Given the description of an element on the screen output the (x, y) to click on. 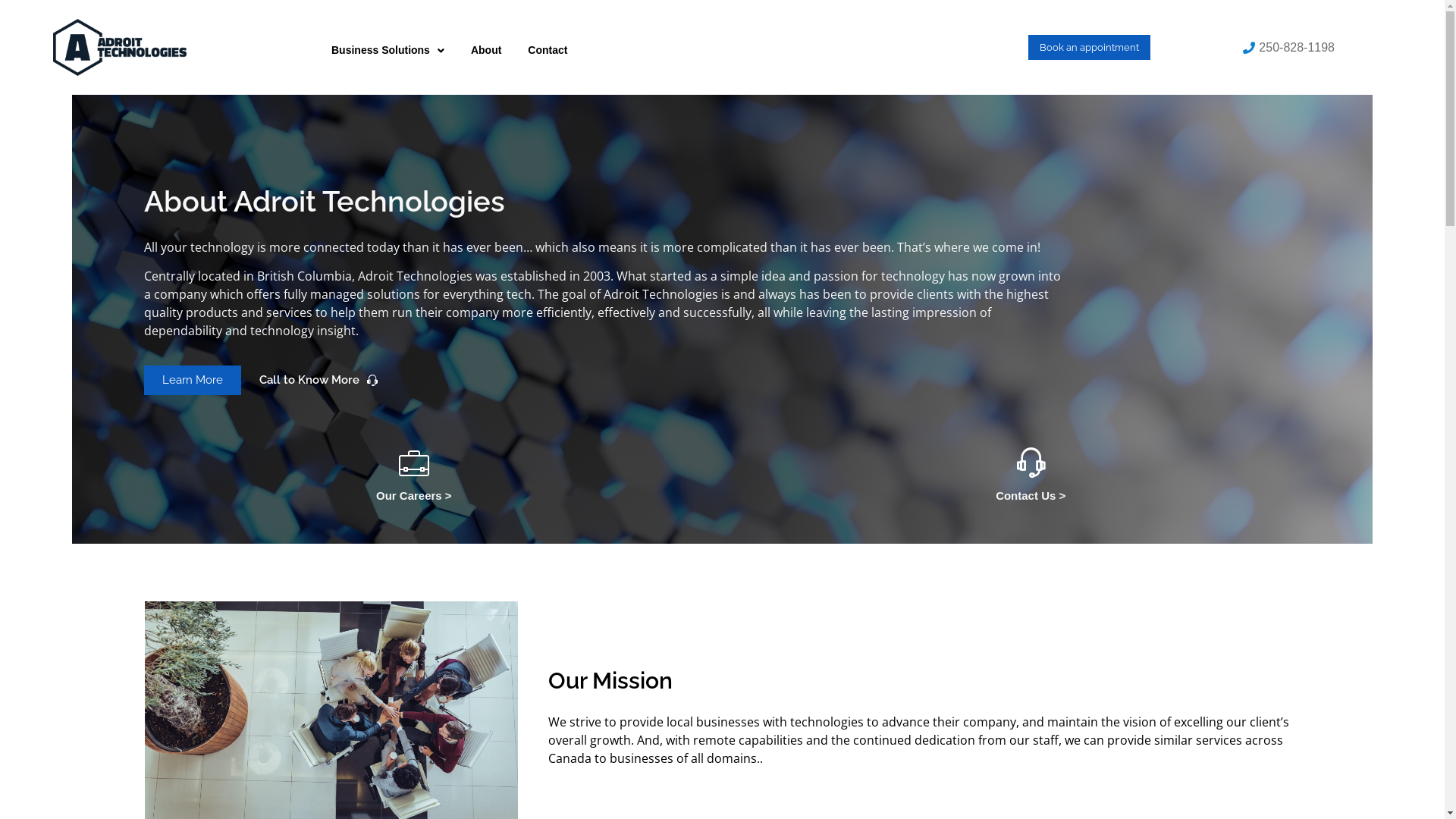
Contact Us > Element type: text (1030, 495)
Contact Element type: text (547, 49)
Book an appointment Element type: text (1089, 46)
About Element type: text (485, 49)
Call to Know More Element type: text (318, 380)
Learn More Element type: text (192, 380)
Business Solutions Element type: text (387, 49)
Our Careers > Element type: text (413, 495)
250-828-1198 Element type: text (1286, 46)
